Given the description of an element on the screen output the (x, y) to click on. 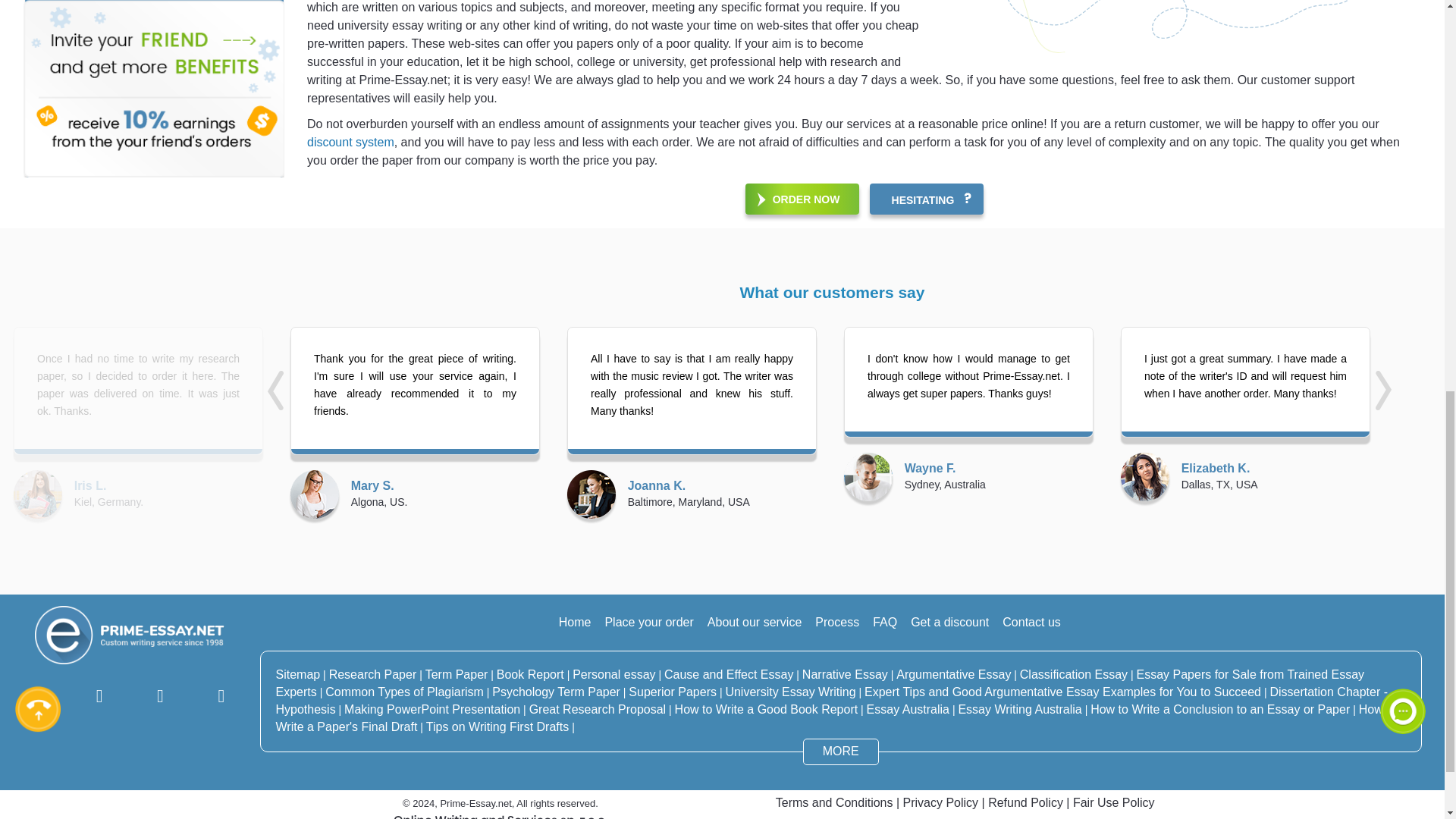
discount system (350, 141)
ORDER NOW (802, 198)
HESITATING (926, 198)
